Given the description of an element on the screen output the (x, y) to click on. 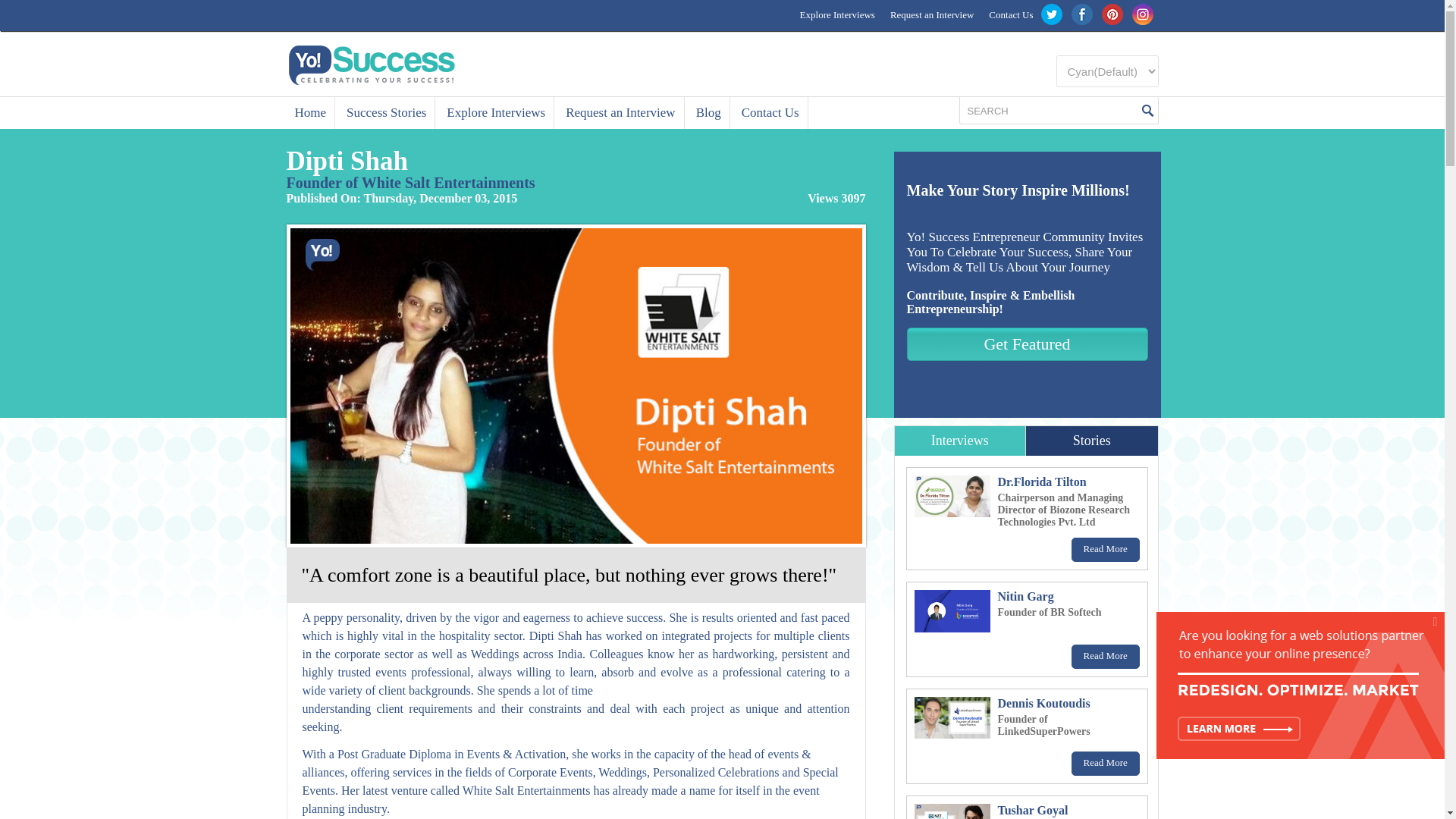
Contact Us (770, 112)
Home (311, 112)
Explore Interviews (496, 112)
Blog (708, 112)
SEARCH (1048, 110)
Recent (1091, 440)
Popular (960, 440)
Request an Interview (931, 15)
Success Stories (386, 112)
Request an Interview (620, 112)
Explore Interviews (837, 15)
Contact Us (1011, 15)
